Given the description of an element on the screen output the (x, y) to click on. 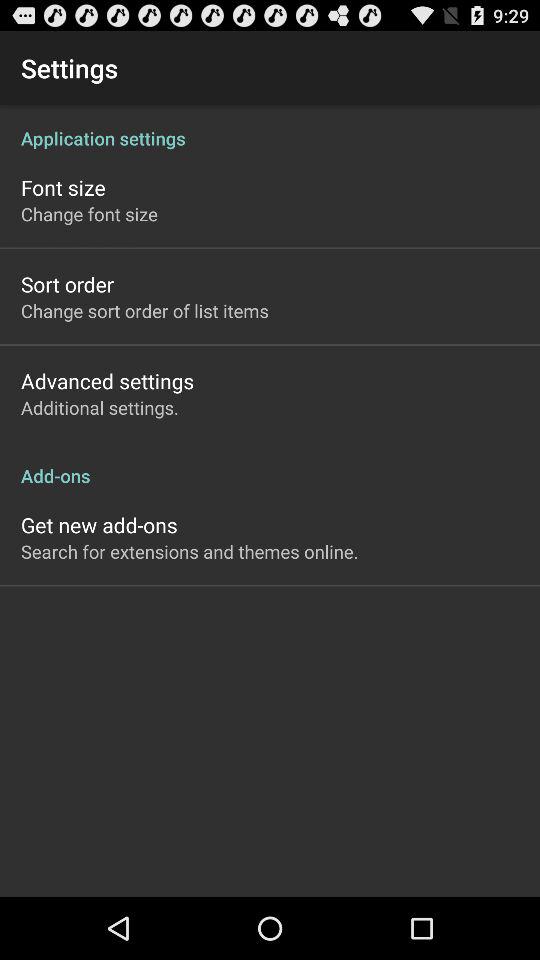
flip until the additional settings. (99, 407)
